Given the description of an element on the screen output the (x, y) to click on. 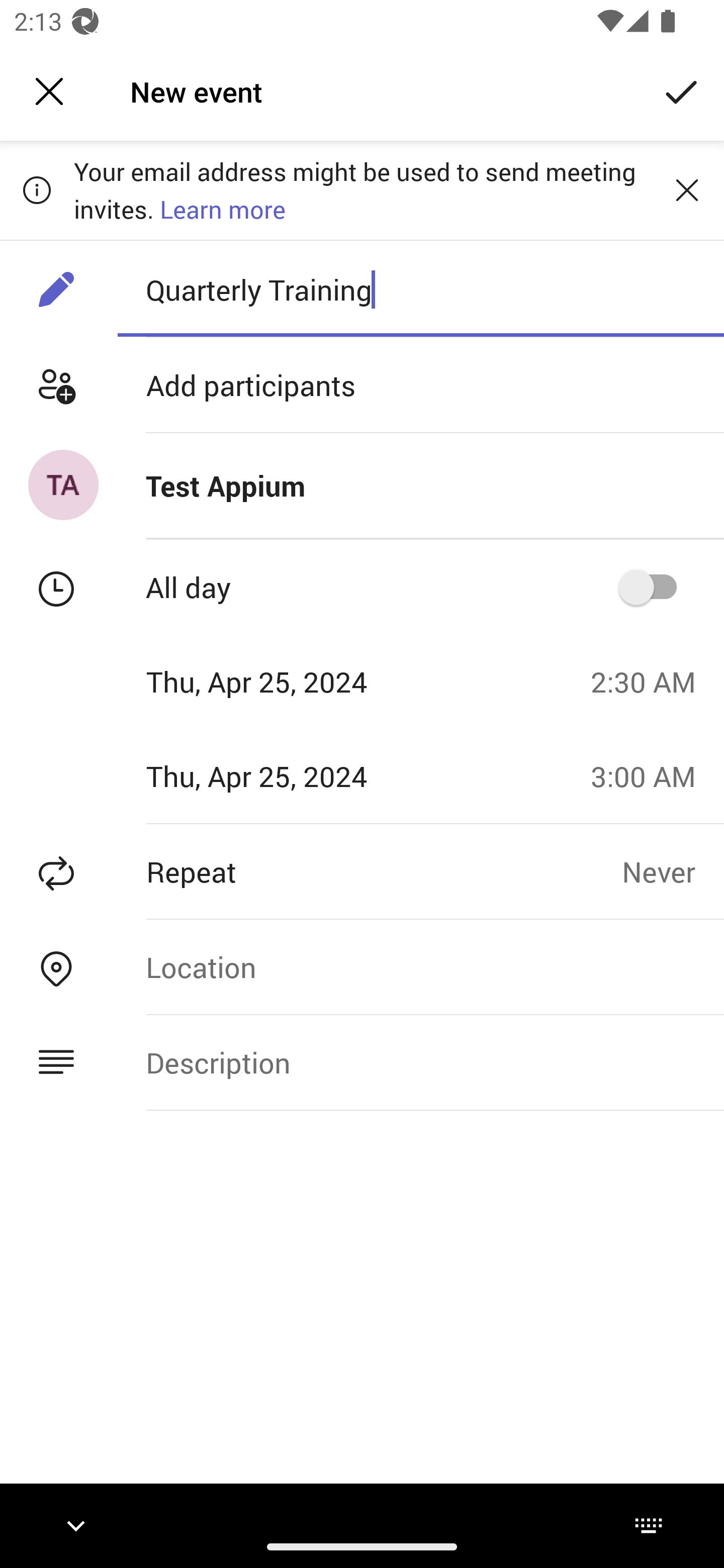
Back (49, 91)
Send invite (681, 90)
Dismiss banner (687, 189)
Quarterly Training (420, 289)
Add participants Add participants option (362, 384)
All day (654, 586)
Thu, Apr 25, 2024 Starts Thursday Apr 25, 2024 (288, 681)
2:30 AM Start time 2:30 AM (650, 681)
Thu, Apr 25, 2024 Ends Thursday Apr 25, 2024 (288, 776)
3:00 AM End time 3:00 AM (650, 776)
Repeat (310, 871)
Never Repeat Never (672, 871)
Location (420, 967)
Description (420, 1062)
